Given the description of an element on the screen output the (x, y) to click on. 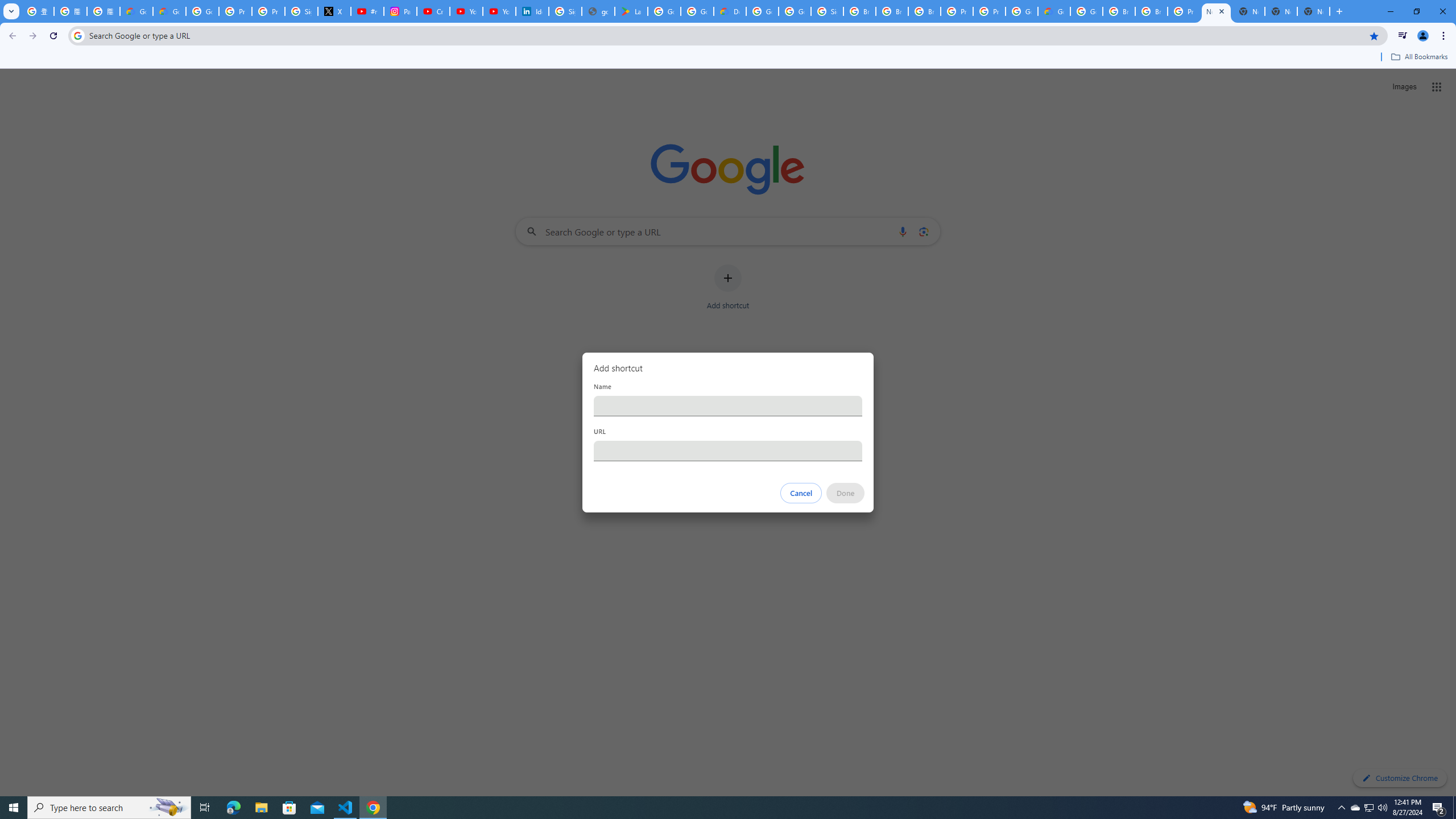
Google Cloud Platform (762, 11)
Browse Chrome as a guest - Computer - Google Chrome Help (1118, 11)
Done (845, 493)
Sign in - Google Accounts (301, 11)
#nbabasketballhighlights - YouTube (367, 11)
Google Cloud Privacy Notice (136, 11)
